Given the description of an element on the screen output the (x, y) to click on. 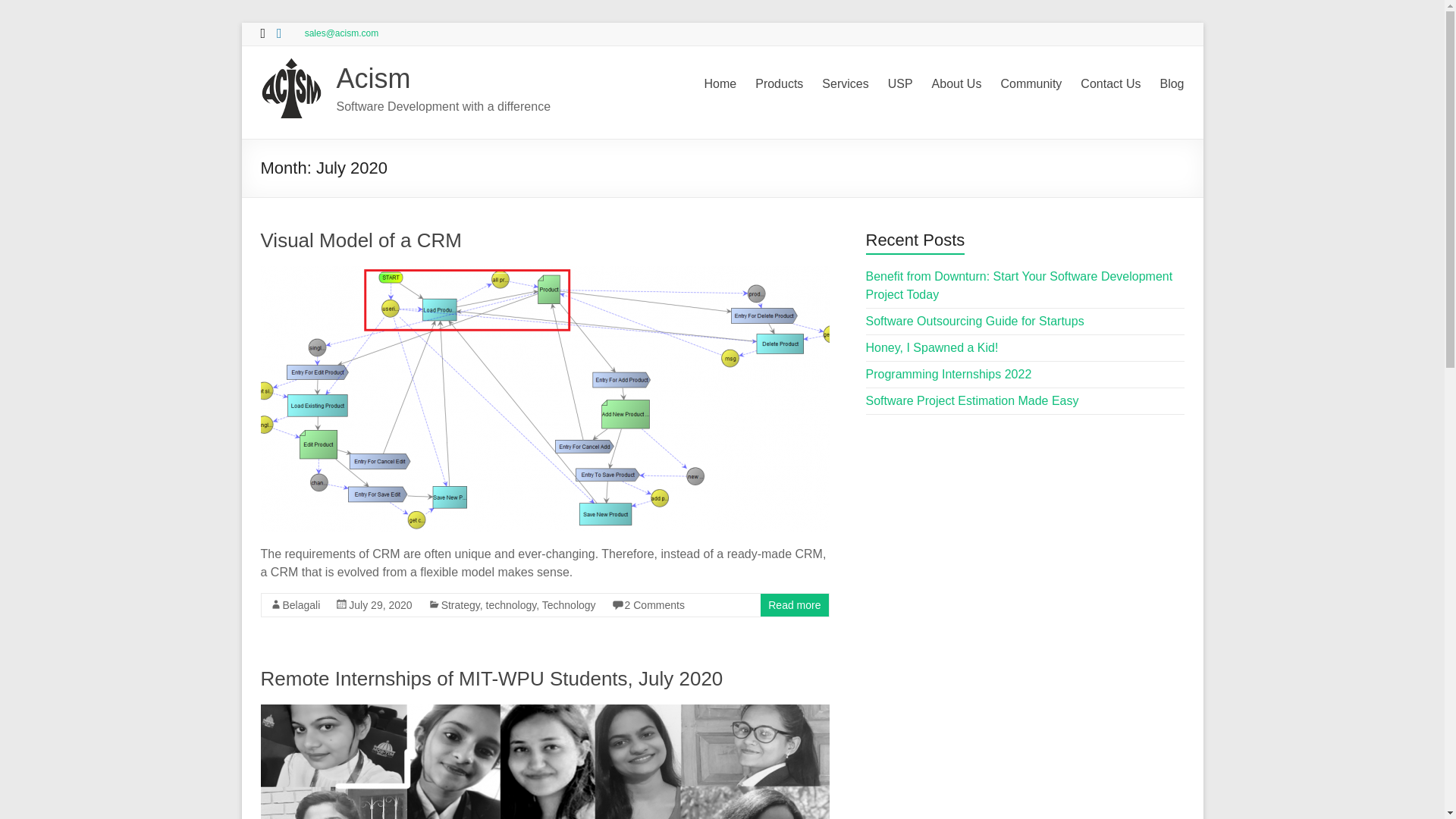
Visual Model of a CRM (544, 273)
Visual Model of a CRM (360, 240)
July 29, 2020 (380, 604)
Acism (373, 78)
Read more (794, 604)
Contact Us (1110, 83)
Remote Internships of MIT-WPU Students, July 2020 (544, 711)
Belagali (301, 604)
Products (779, 83)
Remote Internships of MIT-WPU Students, July 2020 (491, 678)
Visual Model of a CRM (360, 240)
Remote Internships of MIT-WPU Students, July 2020 (544, 761)
Remote Internships of MIT-WPU Students, July 2020 (491, 678)
Home (720, 83)
